Given the description of an element on the screen output the (x, y) to click on. 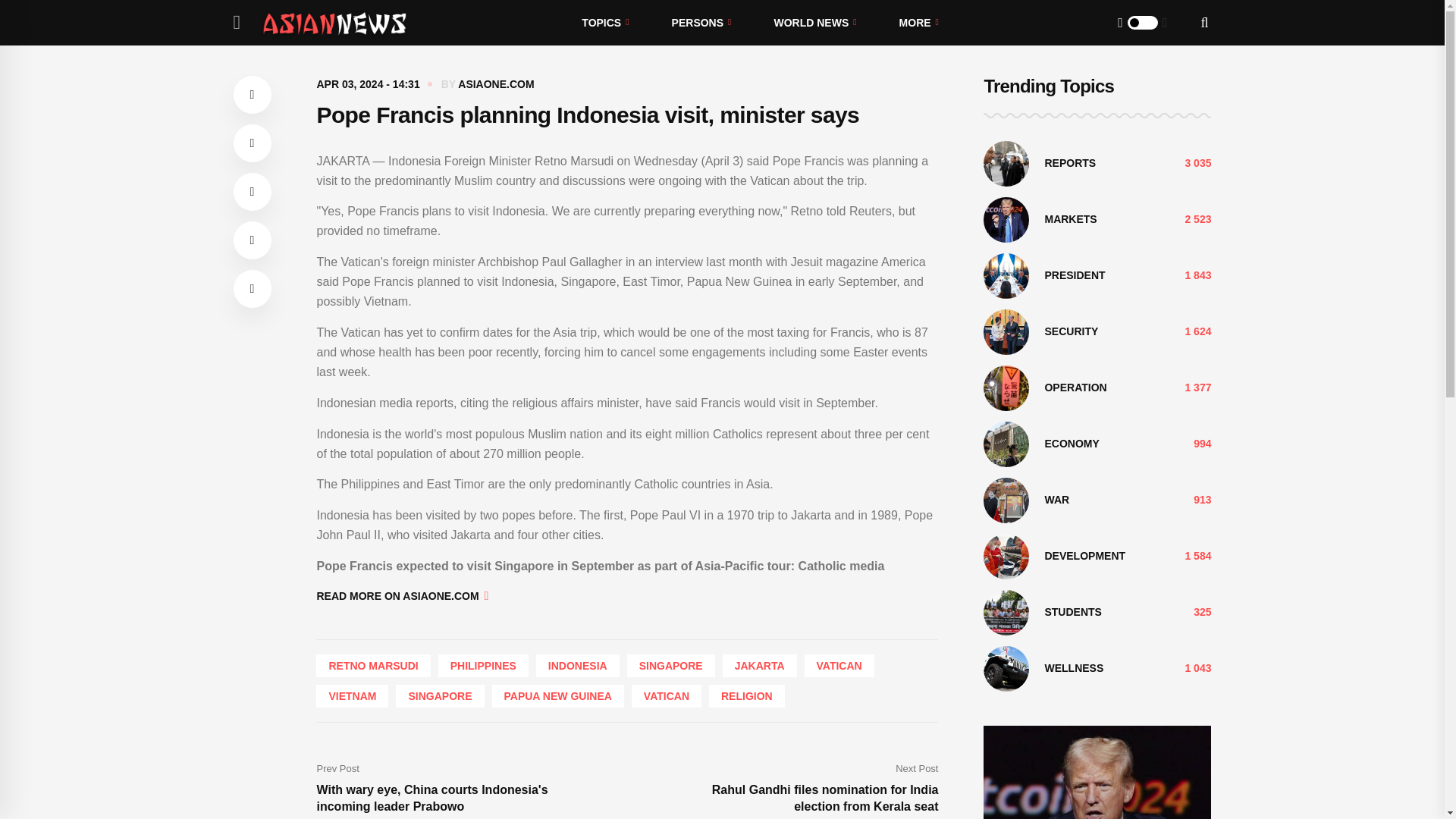
Topics (604, 22)
TOPICS (604, 22)
PERSONS (701, 22)
WORLD NEWS (814, 22)
MORE (918, 22)
Persons (701, 22)
